Given the description of an element on the screen output the (x, y) to click on. 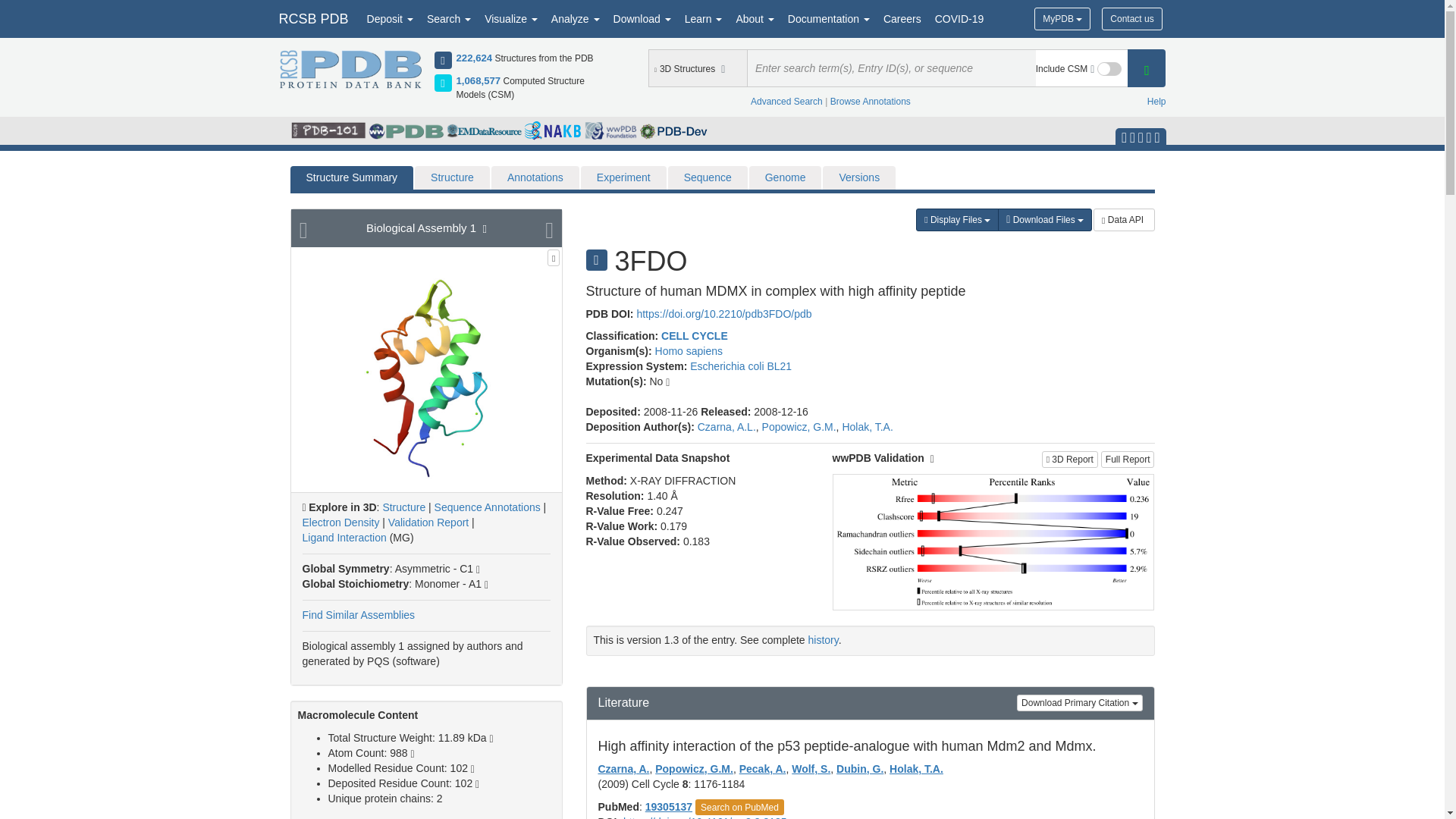
MyPDB (1061, 18)
Deposit  (389, 18)
Search  (448, 18)
RCSB PDB (312, 18)
